Given the description of an element on the screen output the (x, y) to click on. 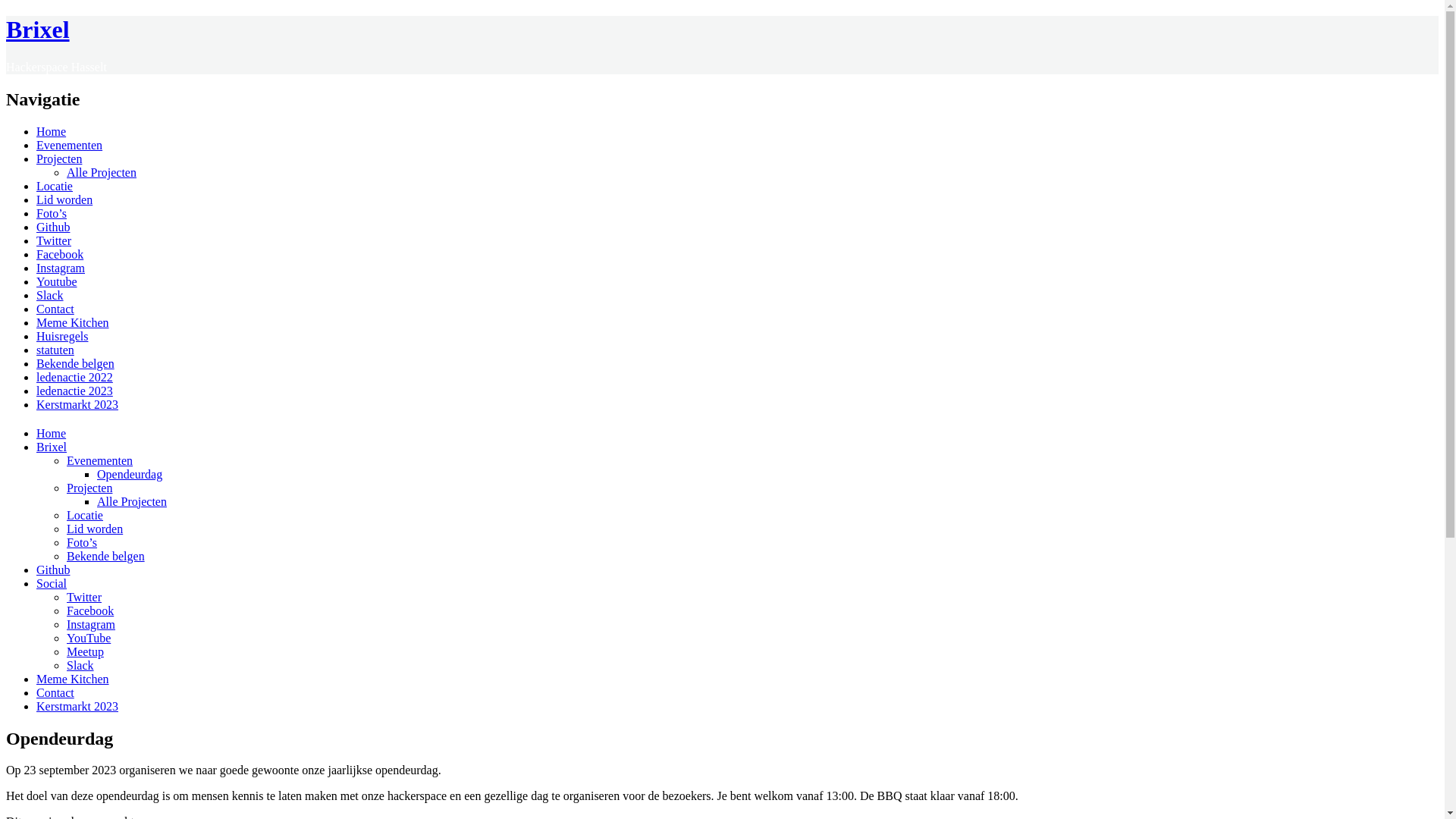
statuten Element type: text (55, 349)
Meme Kitchen Element type: text (72, 678)
Locatie Element type: text (84, 514)
Home Element type: text (50, 432)
Alle Projecten Element type: text (101, 172)
Locatie Element type: text (54, 185)
ledenactie 2022 Element type: text (74, 376)
Brixel Element type: text (51, 446)
Social Element type: text (51, 583)
Twitter Element type: text (83, 596)
Projecten Element type: text (58, 158)
Instagram Element type: text (60, 267)
Bekende belgen Element type: text (75, 363)
Meme Kitchen Element type: text (72, 322)
Contact Element type: text (55, 692)
Github Element type: text (52, 226)
Lid worden Element type: text (94, 528)
Projecten Element type: text (89, 487)
Slack Element type: text (80, 664)
Home Element type: text (50, 131)
ledenactie 2023 Element type: text (74, 390)
Evenementen Element type: text (69, 144)
Youtube Element type: text (56, 281)
Evenementen Element type: text (99, 460)
Skip to content Element type: text (22, 446)
Opendeurdag Element type: text (129, 473)
YouTube Element type: text (88, 637)
Kerstmarkt 2023 Element type: text (77, 404)
Huisregels Element type: text (61, 335)
Meetup Element type: text (84, 651)
Contact Element type: text (55, 308)
Instagram Element type: text (90, 624)
Github Element type: text (52, 569)
Alle Projecten Element type: text (131, 501)
Facebook Element type: text (59, 253)
Slack Element type: text (49, 294)
Kerstmarkt 2023 Element type: text (77, 705)
Twitter Element type: text (53, 240)
Brixel Element type: text (37, 29)
Bekende belgen Element type: text (105, 555)
Facebook Element type: text (89, 610)
Lid worden Element type: text (64, 199)
